Given the description of an element on the screen output the (x, y) to click on. 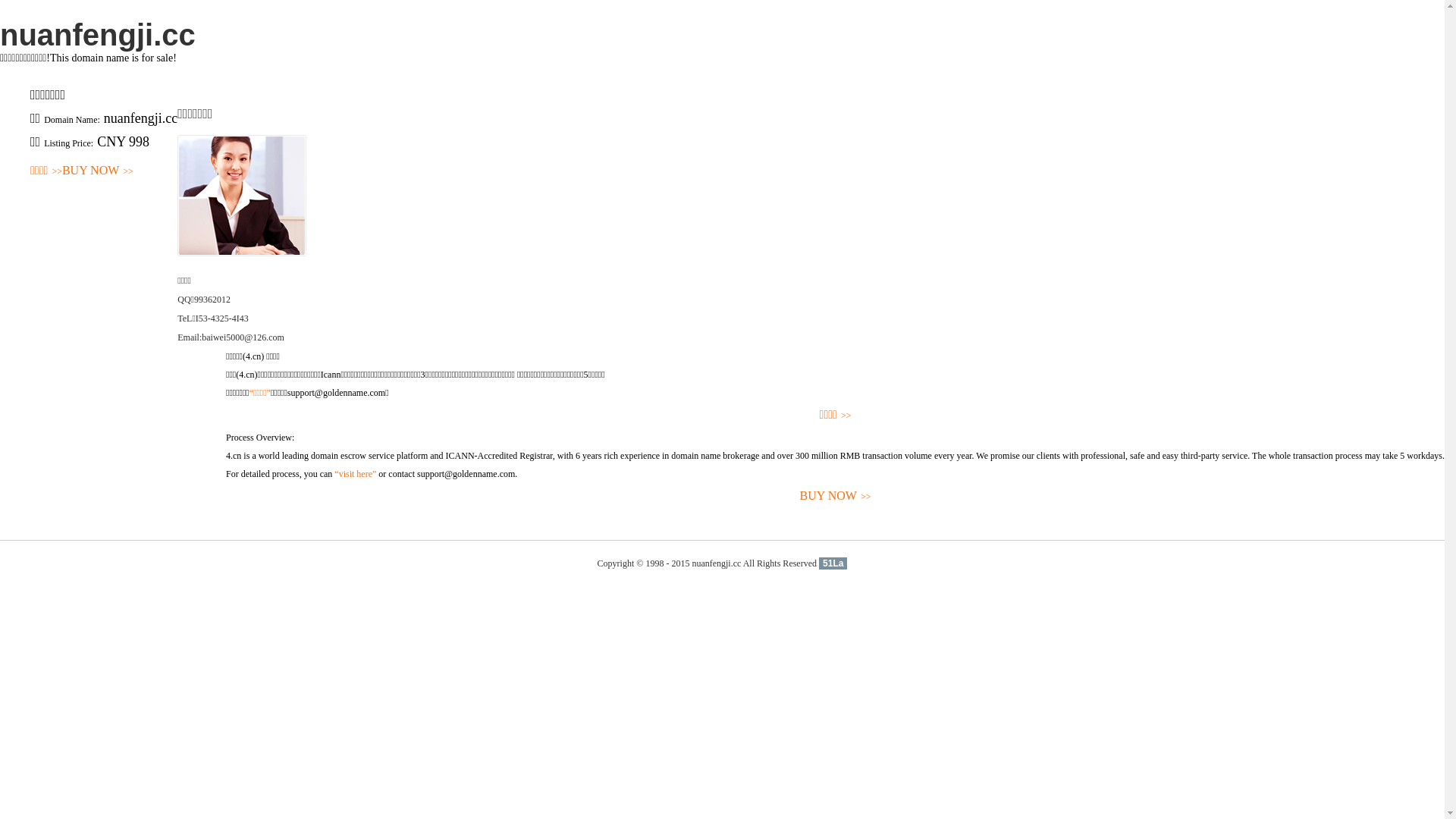
51La Element type: text (833, 563)
BUY NOW>> Element type: text (97, 170)
BUY NOW>> Element type: text (834, 496)
